Given the description of an element on the screen output the (x, y) to click on. 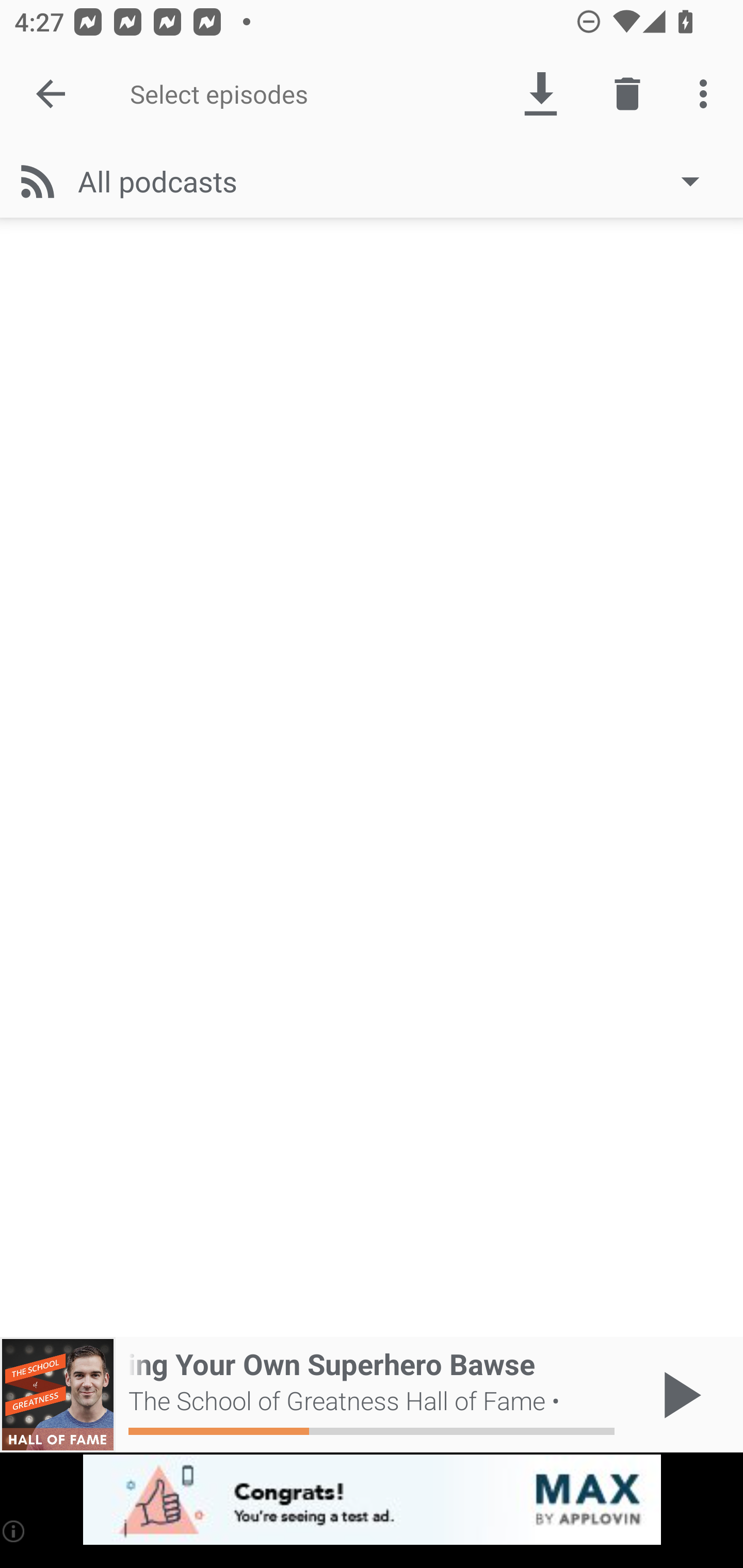
Done (50, 93)
Download (540, 93)
Delete episode (626, 93)
More options (706, 93)
All podcasts (398, 180)
Play / Pause (677, 1394)
app-monetization (371, 1500)
(i) (14, 1531)
